Given the description of an element on the screen output the (x, y) to click on. 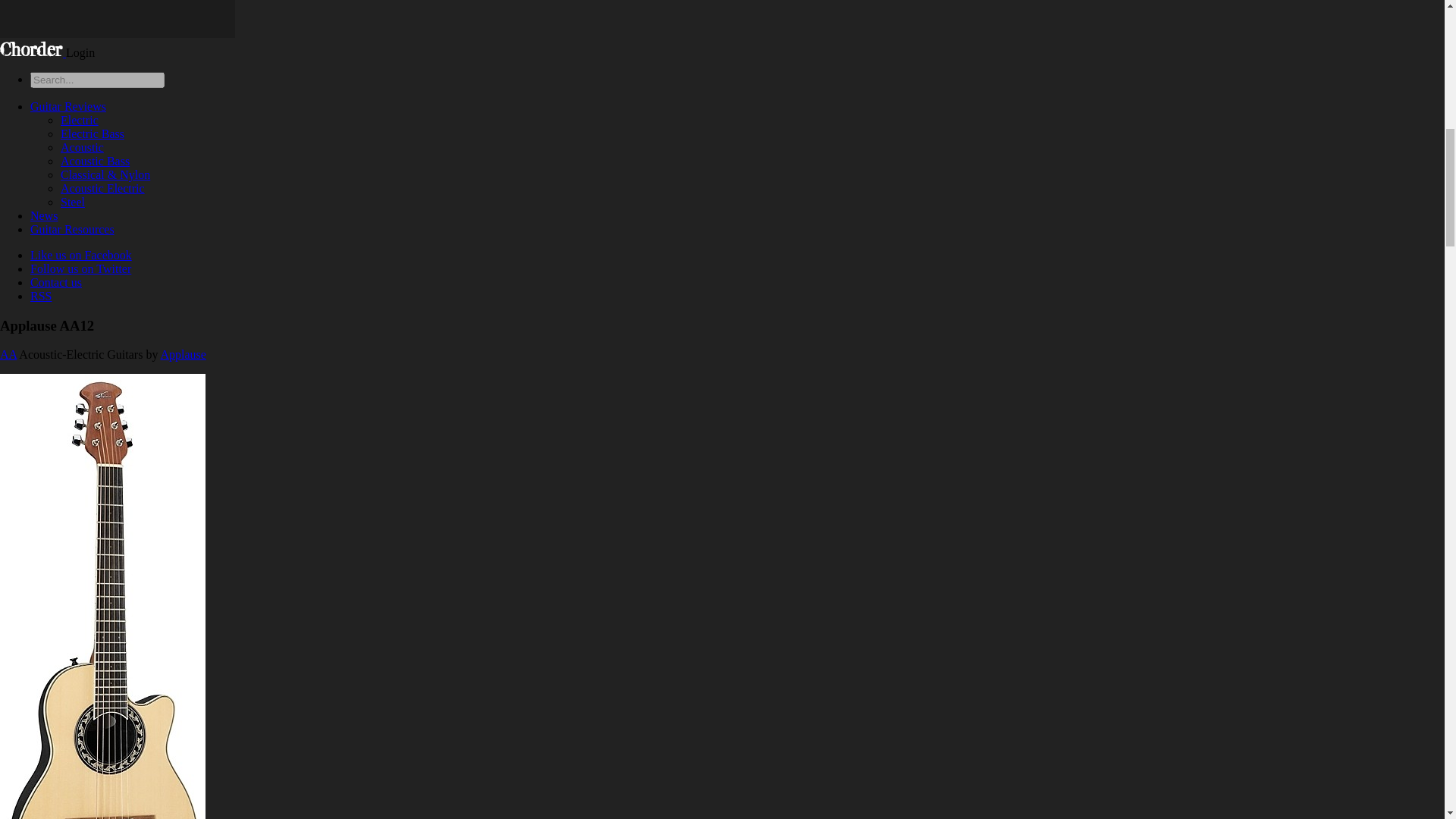
Applause (183, 354)
AA (8, 354)
Electric Bass (92, 133)
Acoustic (82, 146)
Steel (72, 201)
Login (79, 51)
Electric (80, 119)
Acoustic Bass (95, 160)
Acoustic Electric (102, 187)
